Given the description of an element on the screen output the (x, y) to click on. 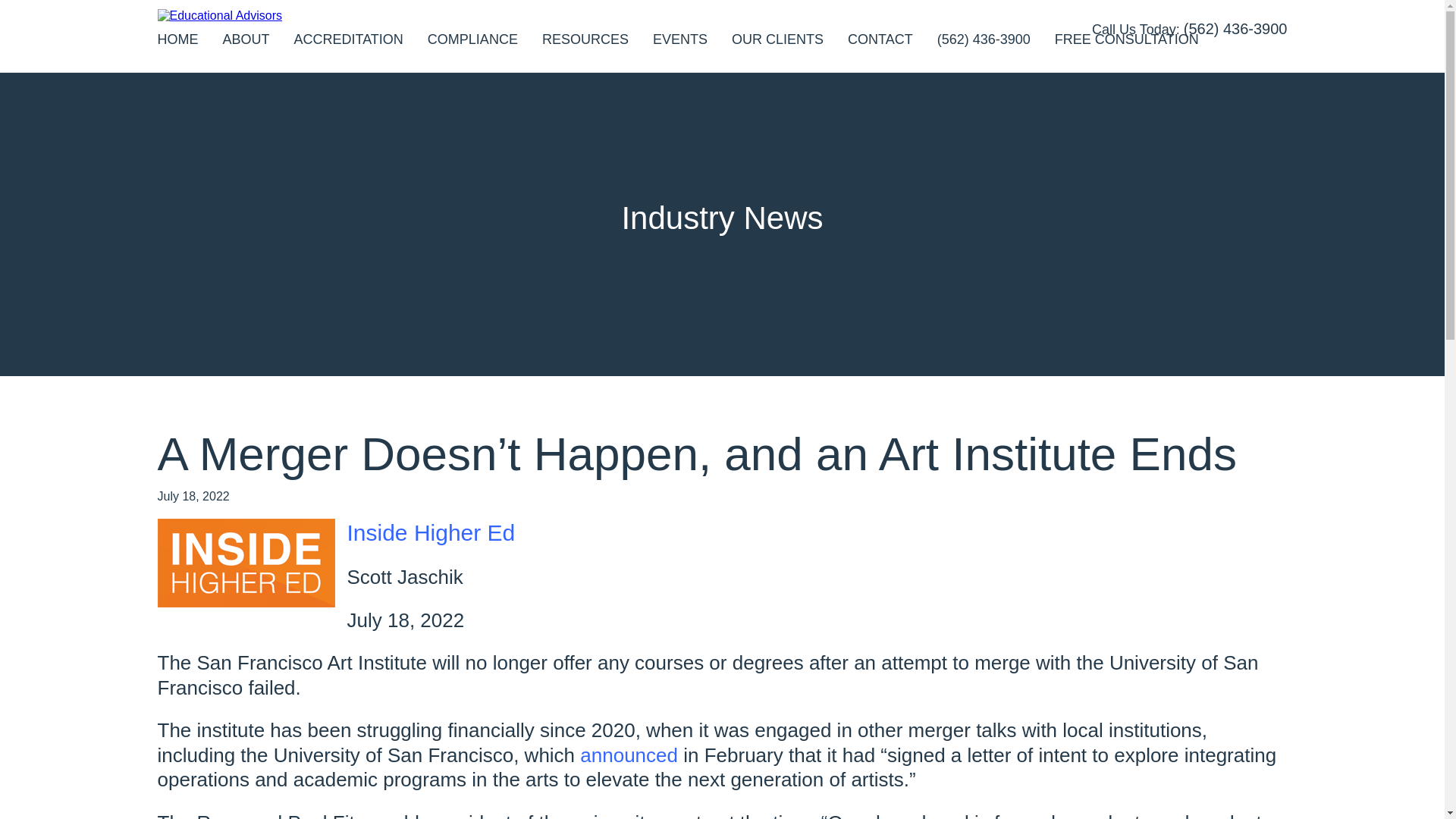
CONTACT (879, 38)
FREE CONSULTATION (1126, 38)
RESOURCES (584, 38)
HOME (177, 38)
Inside Higher Ed (431, 532)
OUR CLIENTS (778, 38)
ABOUT (245, 38)
COMPLIANCE (473, 38)
ACCREDITATION (348, 38)
EVENTS (679, 38)
announced (628, 754)
Go Home (219, 15)
